Given the description of an element on the screen output the (x, y) to click on. 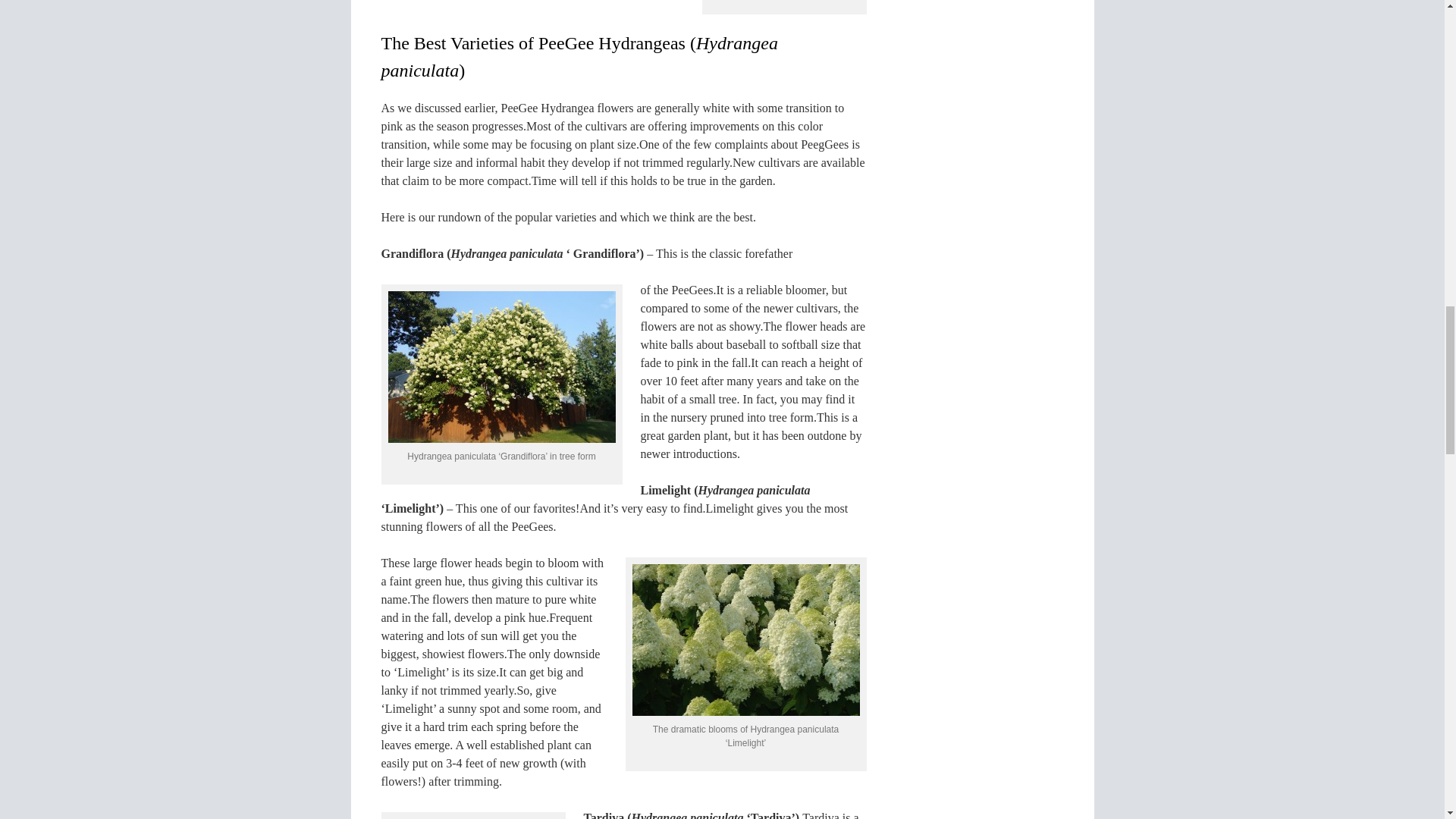
hydrangea paniculata 'Limelight' bloom (745, 639)
hydrangea-paniculata-grandiflora (501, 367)
